Given the description of an element on the screen output the (x, y) to click on. 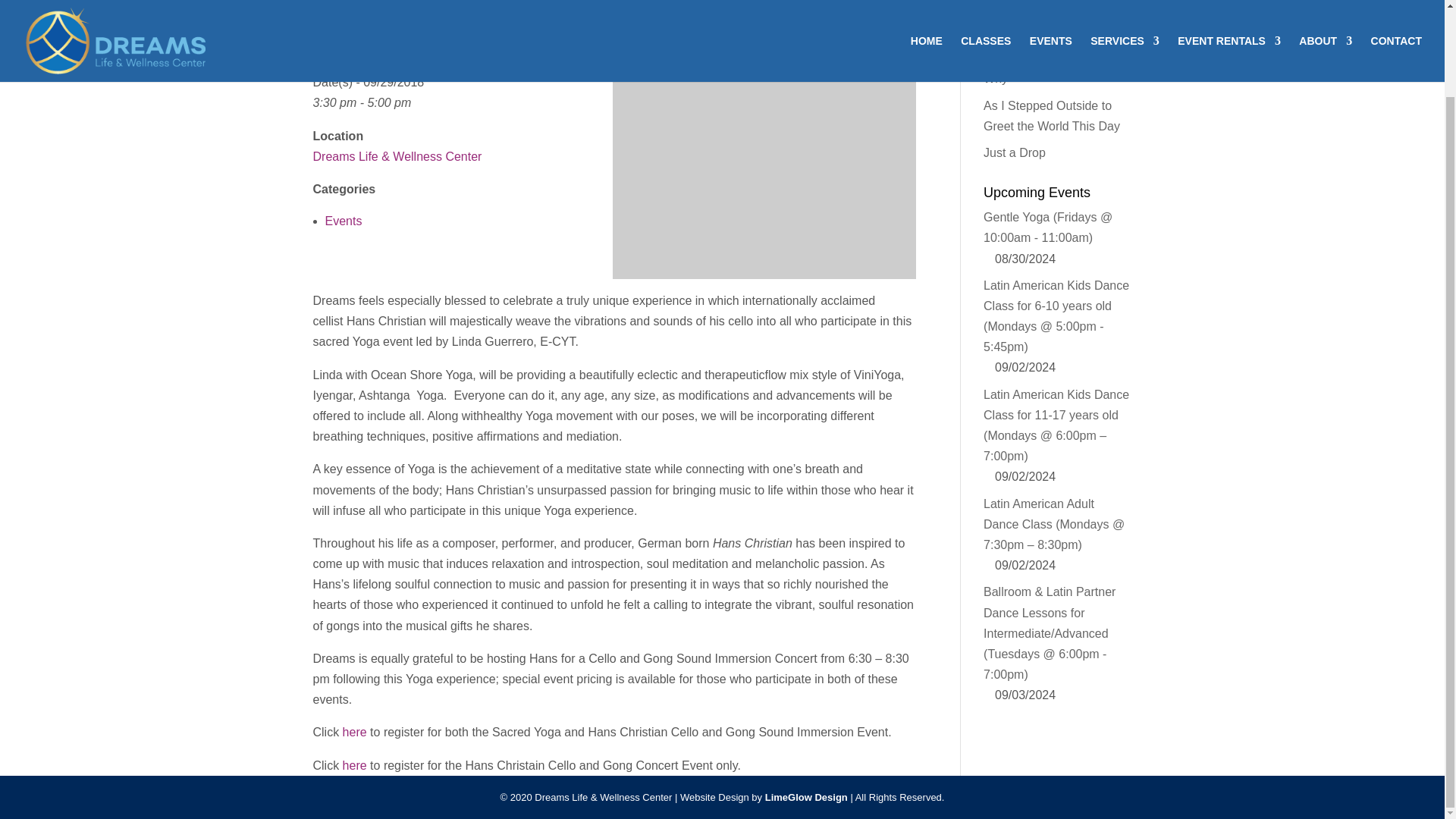
here (354, 731)
Events (342, 220)
LimeGlow Design (806, 797)
here (354, 765)
Just a Drop (1014, 152)
As I Stepped Outside to Greet the World This Day (1051, 115)
